Given the description of an element on the screen output the (x, y) to click on. 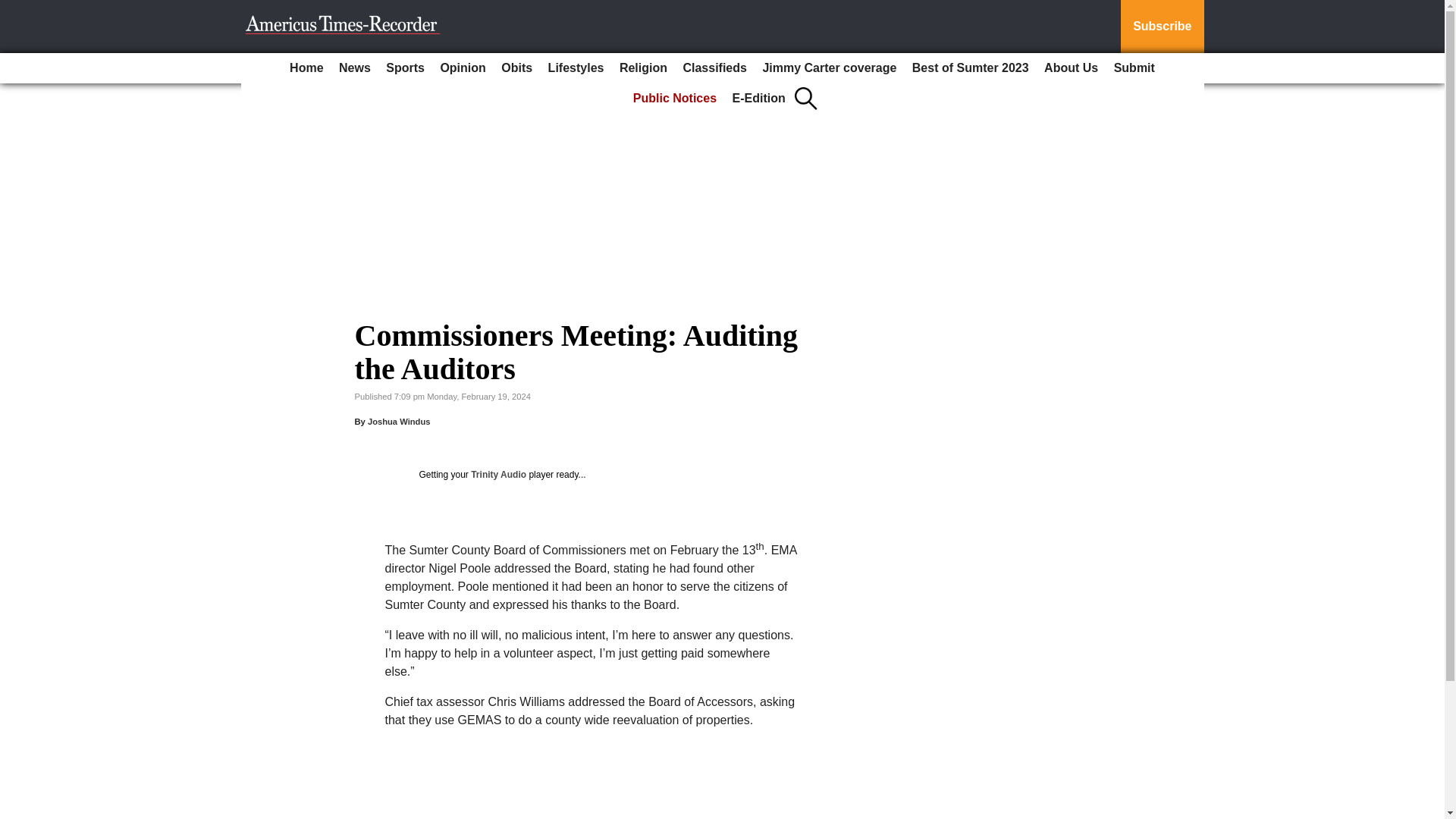
Religion (642, 68)
Classifieds (714, 68)
Go (13, 9)
Sports (405, 68)
Best of Sumter 2023 (970, 68)
Subscribe (1162, 26)
Submit (1134, 68)
Jimmy Carter coverage (828, 68)
Home (306, 68)
Opinion (462, 68)
About Us (1070, 68)
Trinity Audio (497, 474)
Obits (516, 68)
E-Edition (759, 98)
News (355, 68)
